Given the description of an element on the screen output the (x, y) to click on. 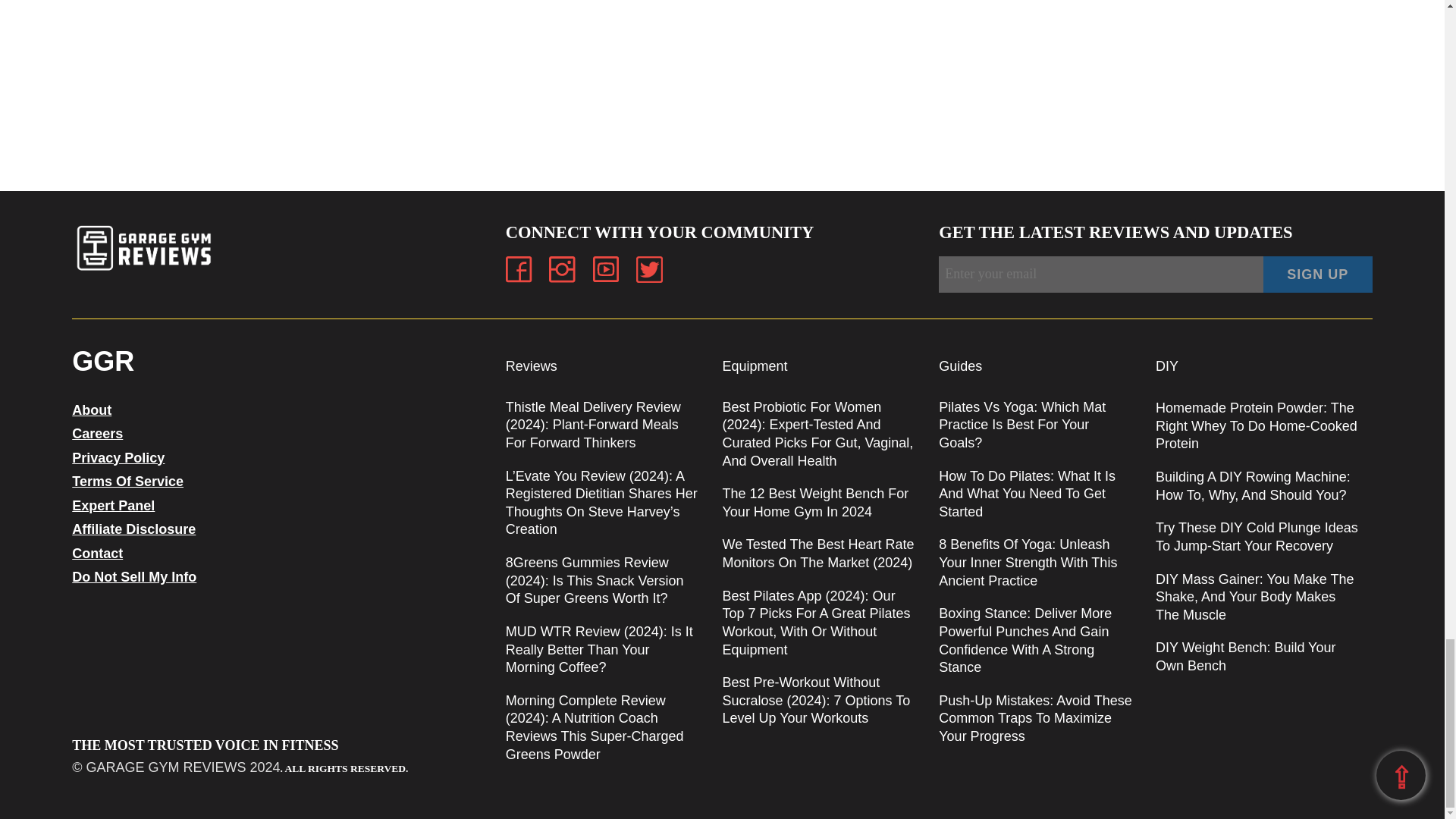
Equipment (754, 365)
Reviews (531, 365)
Sign Up (1318, 274)
